Given the description of an element on the screen output the (x, y) to click on. 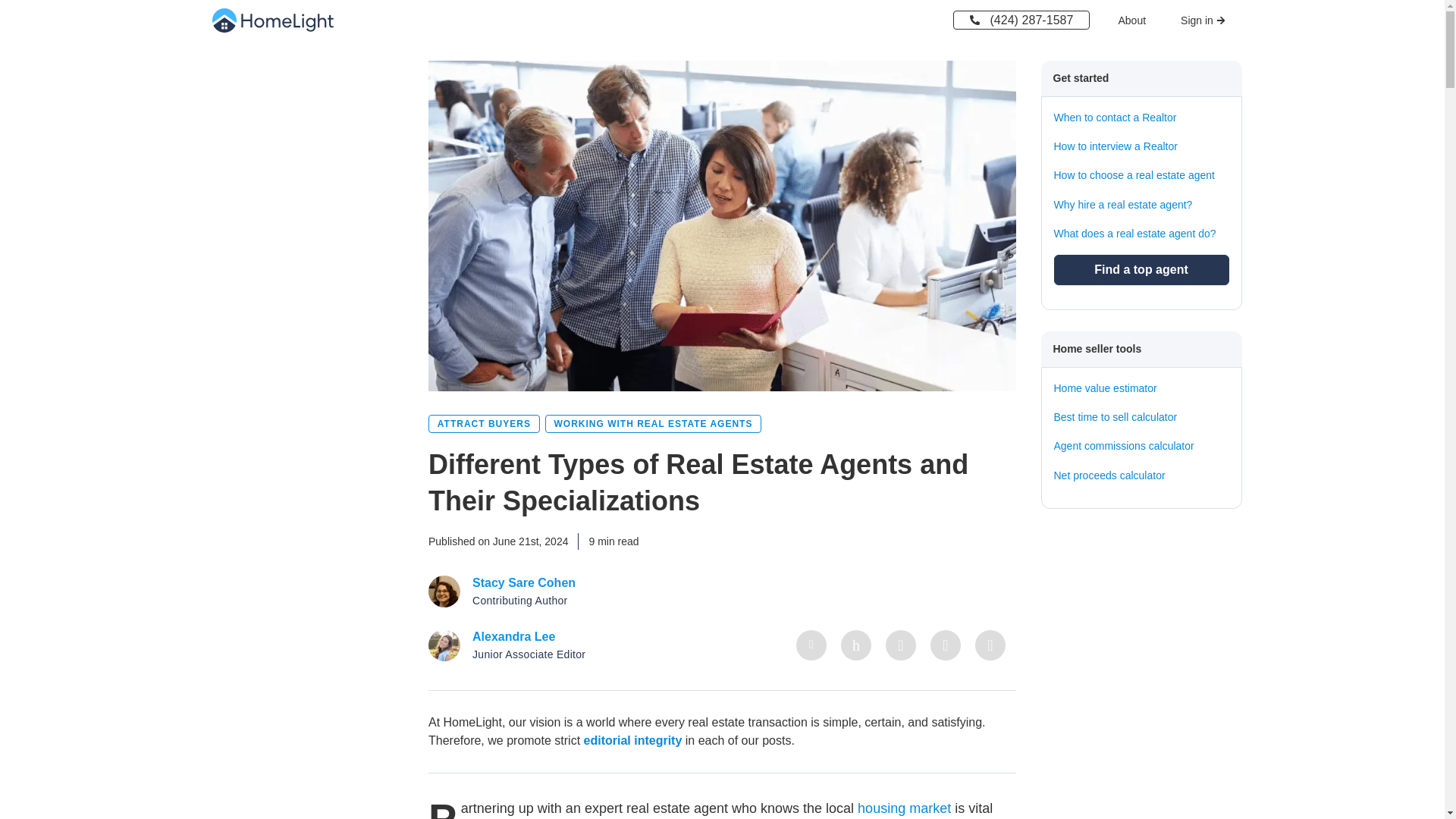
housing market (903, 807)
Sign in (1202, 20)
Share on Facebook (900, 644)
About (1135, 20)
Share on LinkedIn (811, 644)
phone (974, 20)
WORKING WITH REAL ESTATE AGENTS (652, 423)
editorial integrity (632, 739)
Save to Pinterest (990, 644)
ATTRACT BUYERS (484, 423)
Share by Email (945, 644)
Share on Twitter (855, 644)
HomeLight Blog (272, 20)
